Given the description of an element on the screen output the (x, y) to click on. 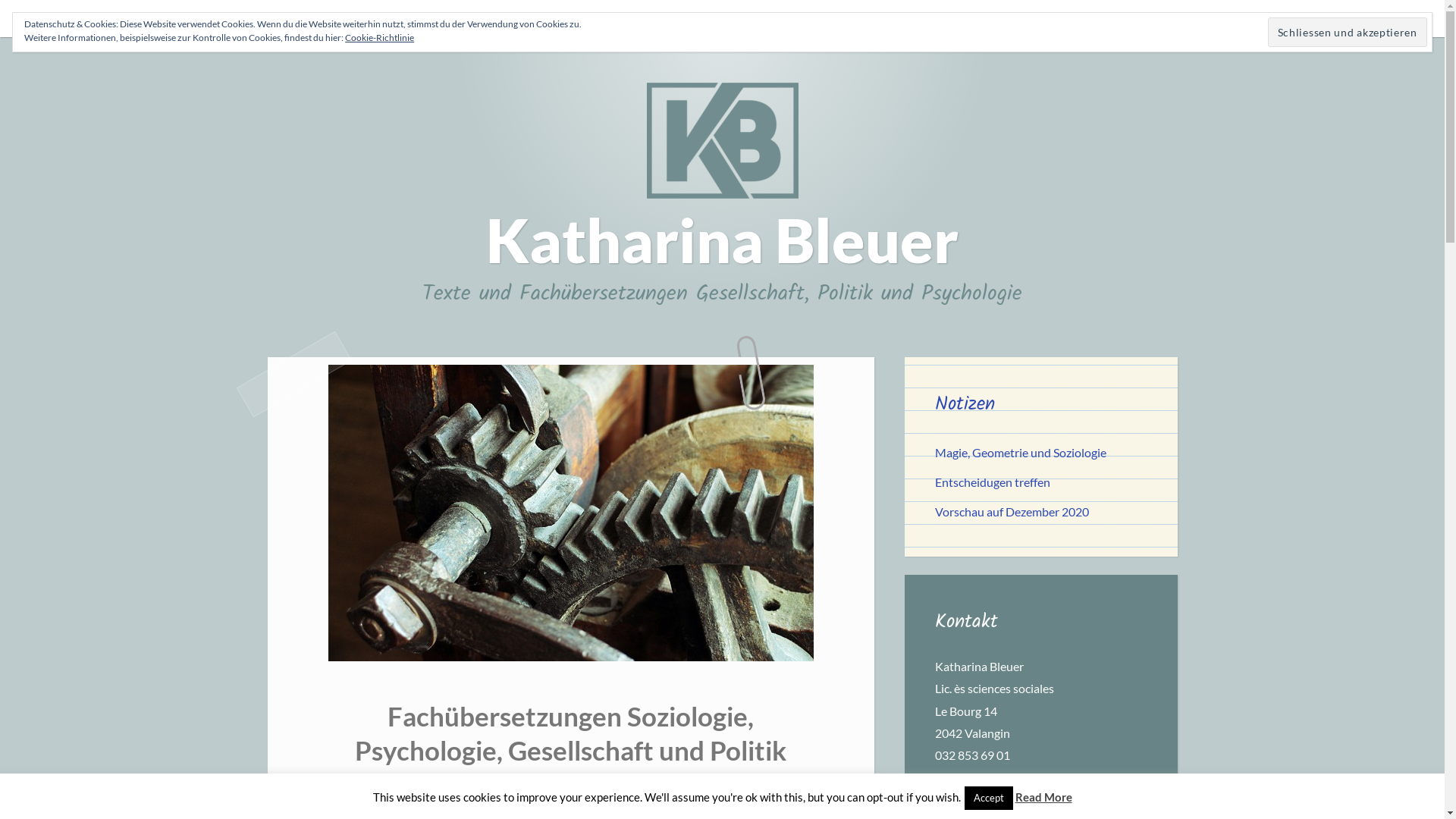
Magie, Geometrie und Soziologie Element type: text (1019, 452)
Texte aus meiner Feder Element type: text (607, 18)
info@buchstabensalat.ch Element type: text (999, 776)
Home Element type: text (433, 18)
Cookie-Richtlinie Element type: text (379, 37)
Vorschau auf Dezember 2020 Element type: text (1011, 511)
Impressum Element type: text (857, 18)
Entscheidugen treffen Element type: text (991, 481)
Katharina Bleuer Element type: text (722, 239)
Read More Element type: text (1042, 796)
Accept Element type: text (988, 797)
Schliessen und akzeptieren Element type: text (1347, 32)
Das bin ich Element type: text (500, 18)
Referenzen Element type: text (714, 18)
buchstabensalat.ch Element type: text (1040, 798)
Notizen Element type: text (786, 18)
